Given the description of an element on the screen output the (x, y) to click on. 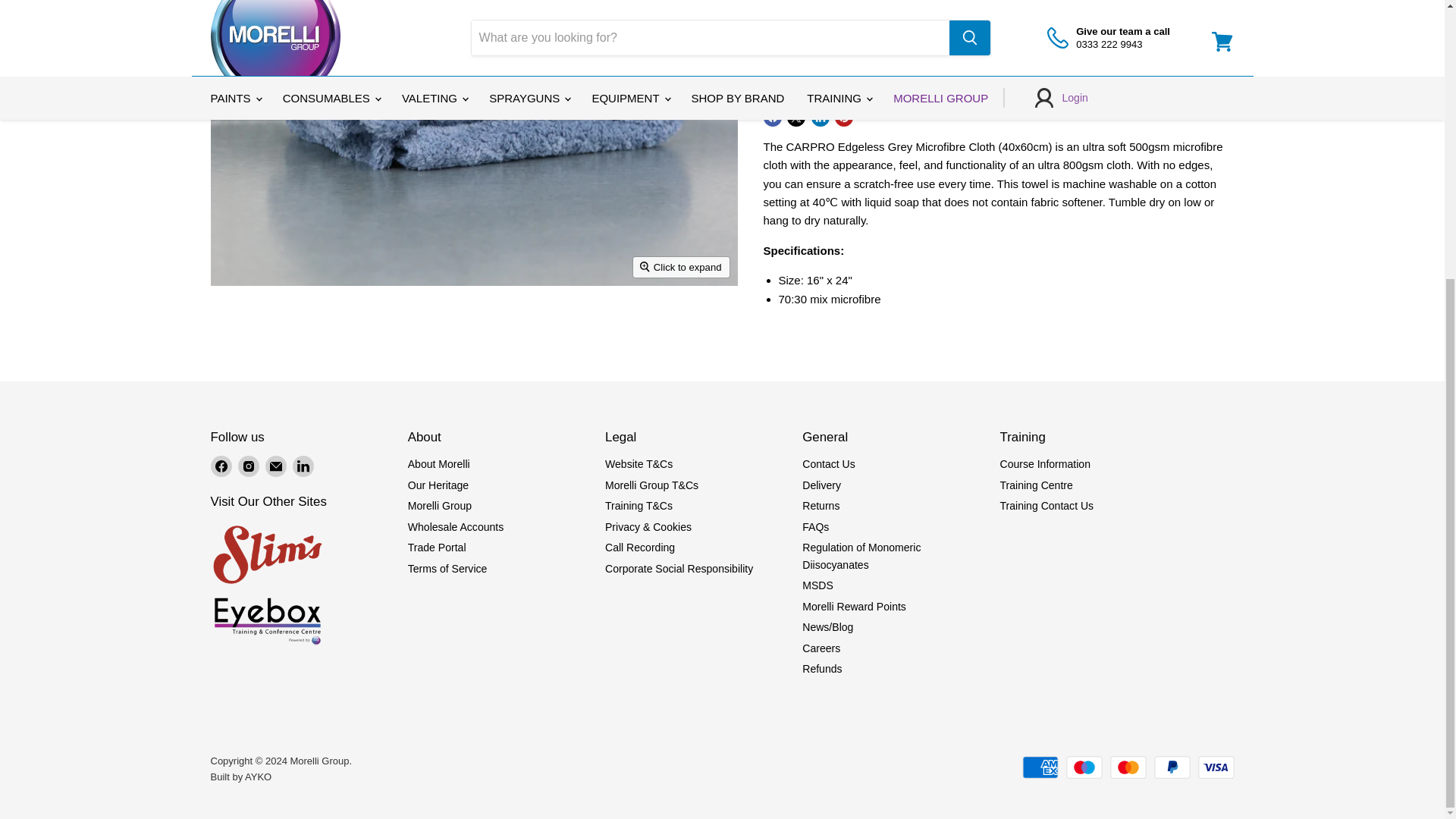
Email (275, 465)
1 (838, 15)
Facebook (221, 465)
LinkedIn (303, 465)
Instagram (248, 465)
